Given the description of an element on the screen output the (x, y) to click on. 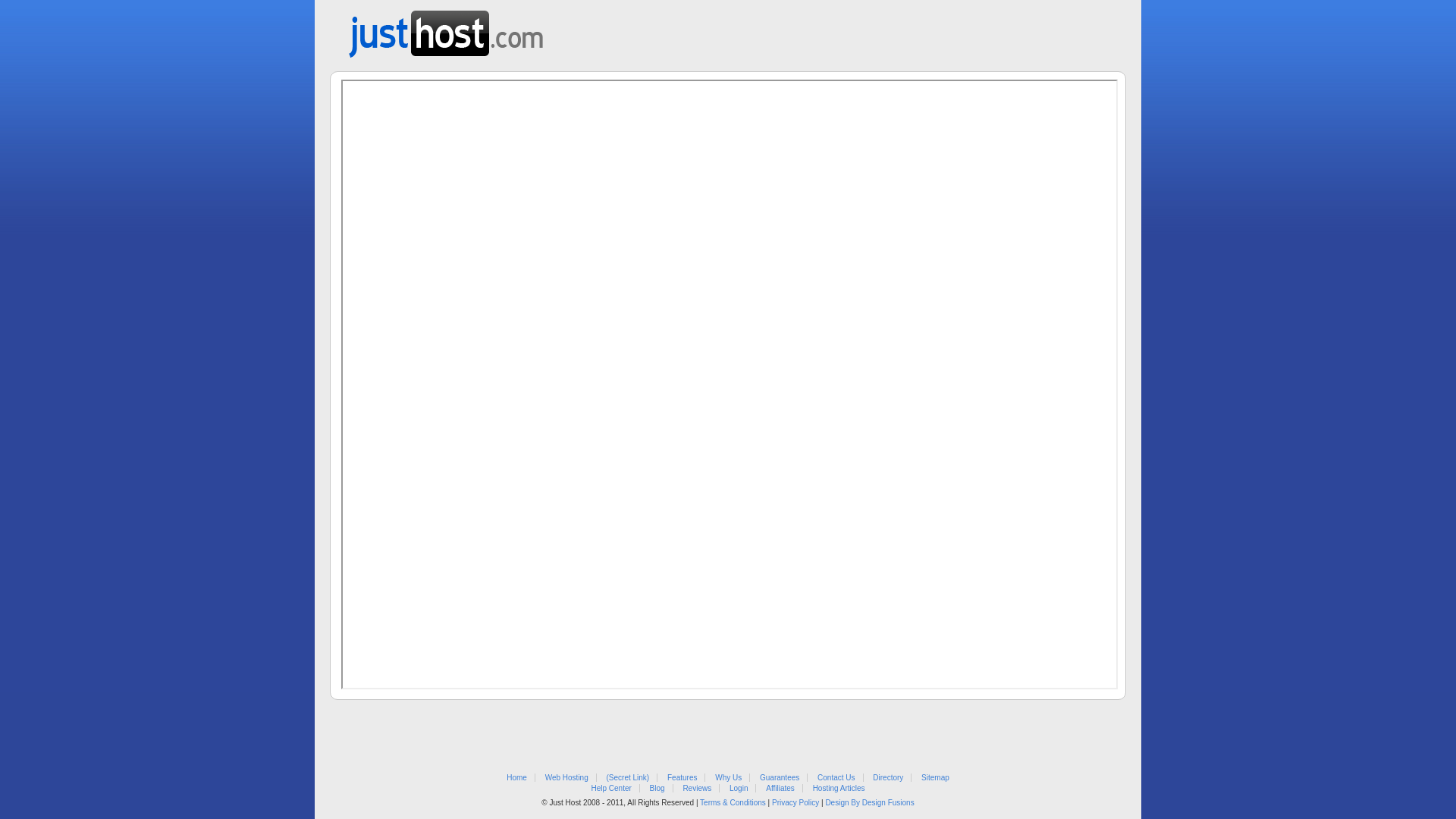
Web Hosting from Just Host Element type: text (445, 28)
(Secret Link) Element type: text (627, 777)
Contact Us Element type: text (835, 777)
Sitemap Element type: text (935, 777)
Design By Design Fusions Element type: text (869, 802)
Affiliates Element type: text (779, 788)
Home Element type: text (516, 777)
Directory Element type: text (887, 777)
Hosting Articles Element type: text (838, 788)
Help Center Element type: text (610, 788)
Login Element type: text (738, 788)
Terms & Conditions Element type: text (732, 802)
Web Hosting Element type: text (566, 777)
Privacy Policy Element type: text (795, 802)
Guarantees Element type: text (779, 777)
Blog Element type: text (657, 788)
Features Element type: text (681, 777)
Why Us Element type: text (728, 777)
Reviews Element type: text (696, 788)
